Given the description of an element on the screen output the (x, y) to click on. 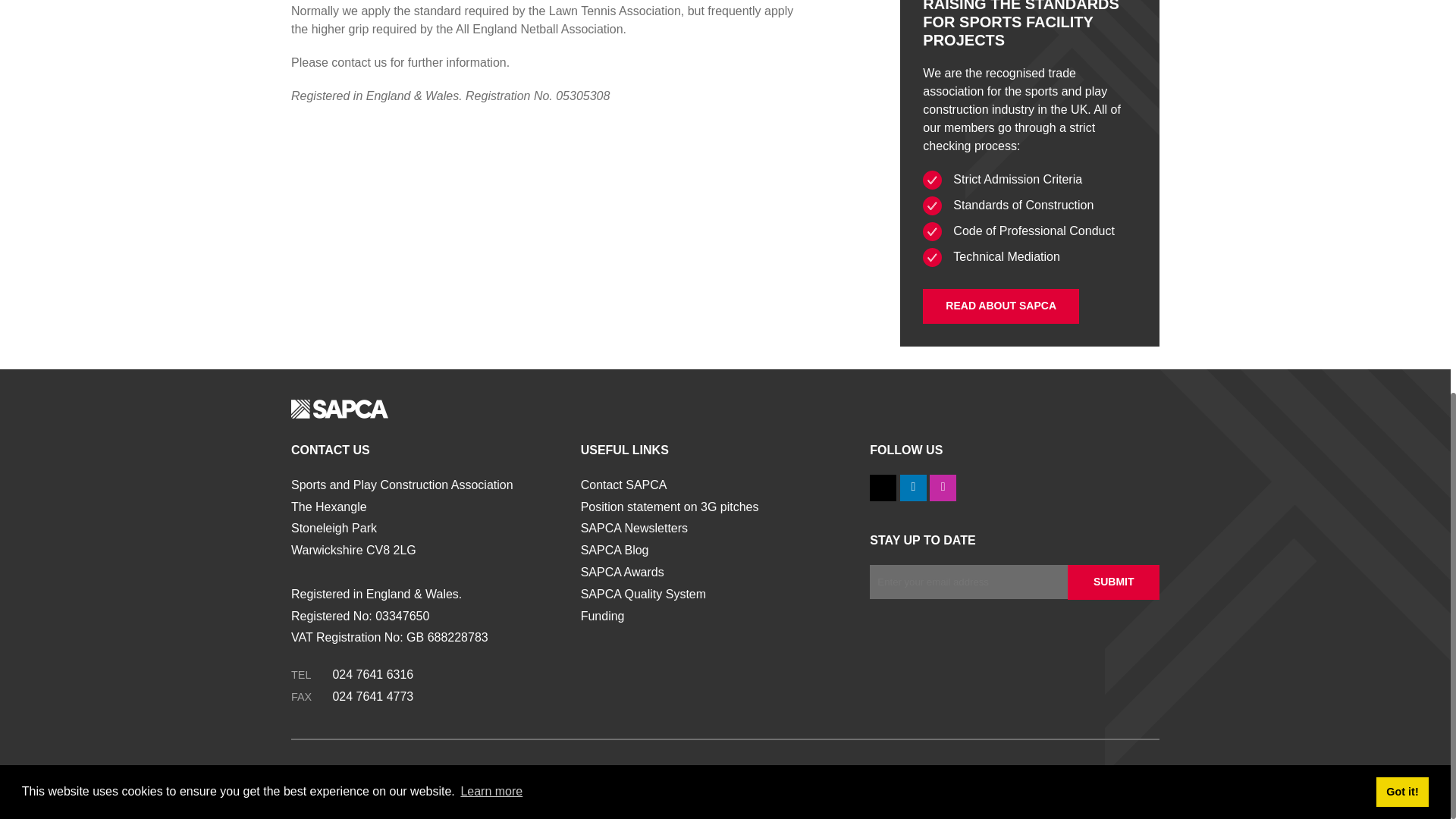
Got it! (1401, 37)
Learn more (491, 36)
